Given the description of an element on the screen output the (x, y) to click on. 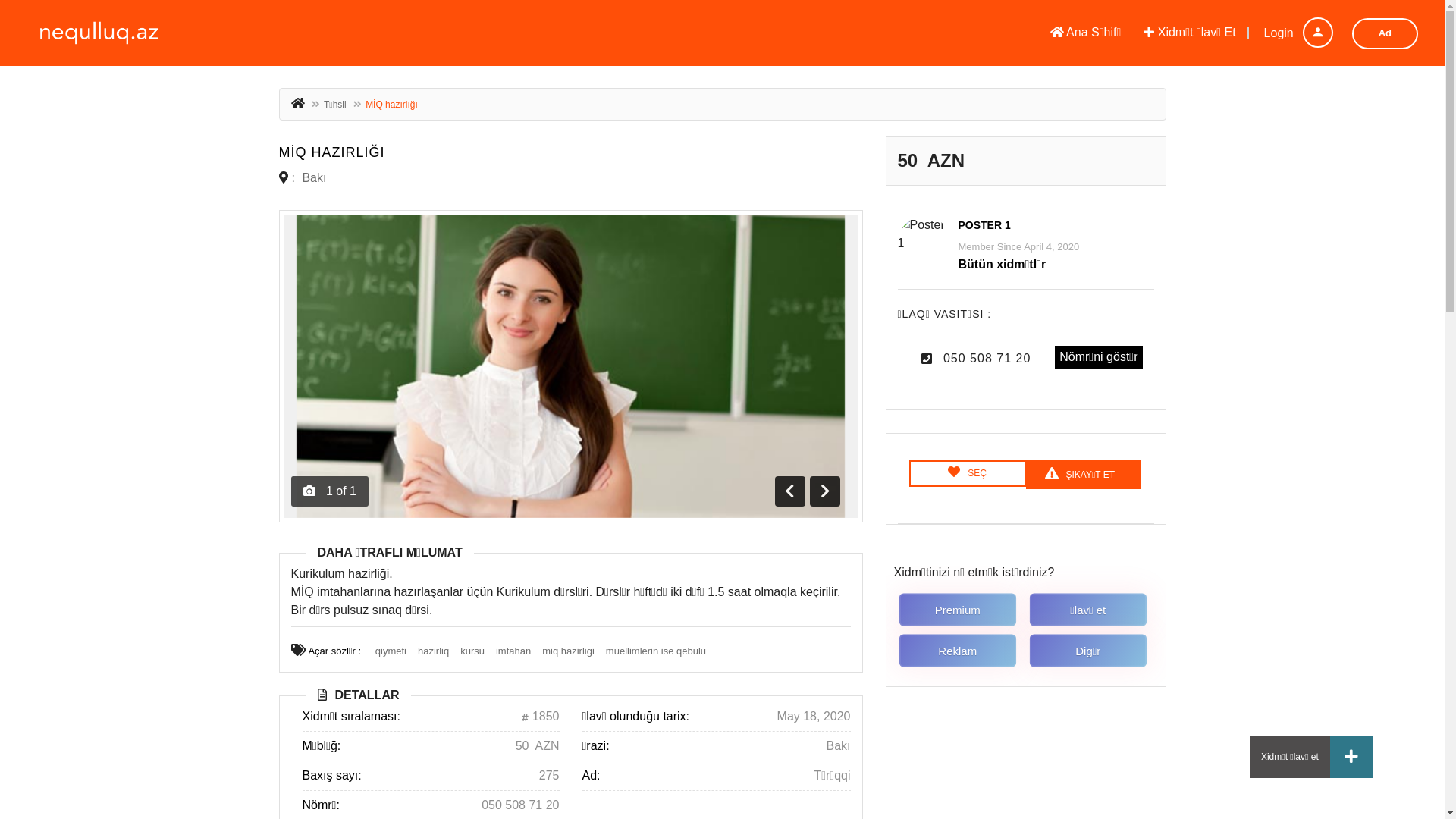
Reklam Element type: text (958, 650)
muellimlerin ise qebulu Element type: text (655, 650)
miq hazirligi Element type: text (568, 650)
kursu Element type: text (472, 650)
Reklam Element type: text (960, 650)
qiymeti Element type: text (390, 650)
Login Element type: text (1290, 32)
hazirliq Element type: text (432, 650)
POSTER 1 Element type: text (984, 225)
Premium Element type: text (958, 609)
Premium Element type: text (960, 610)
Ad Element type: text (1385, 33)
imtahan Element type: text (512, 650)
